Given the description of an element on the screen output the (x, y) to click on. 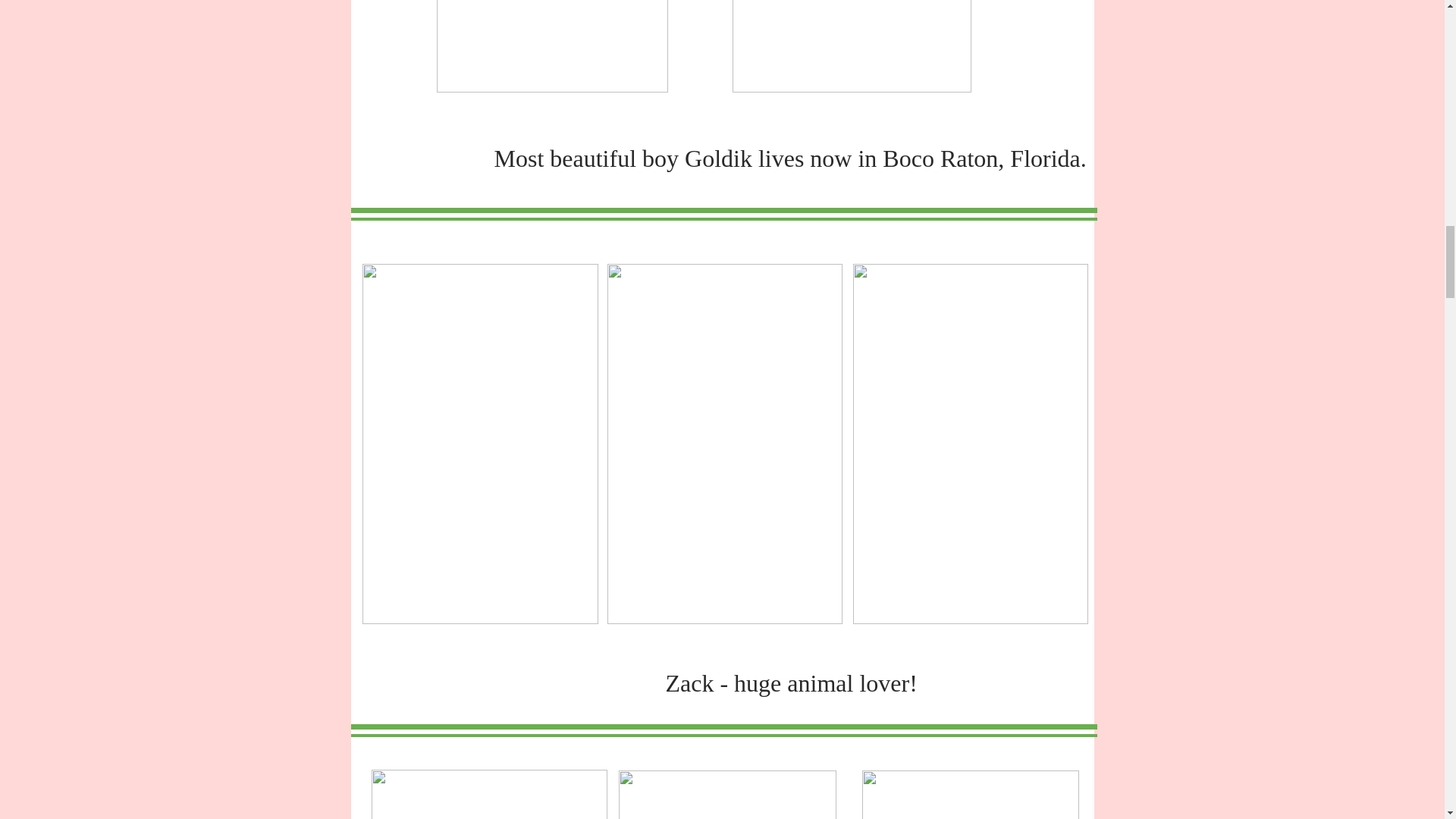
image1.JPG (726, 794)
15.PNG (489, 794)
